Given the description of an element on the screen output the (x, y) to click on. 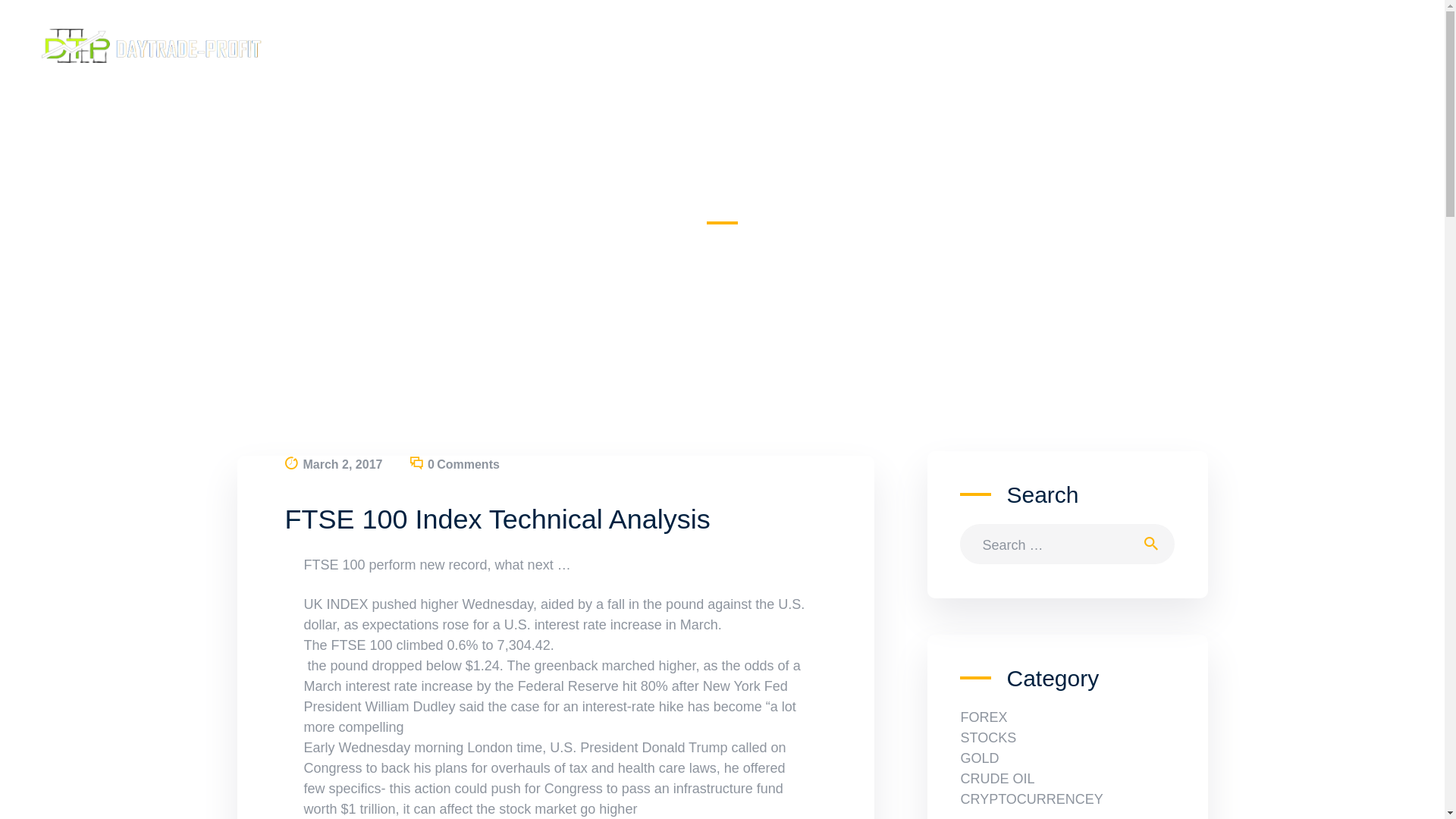
Search (1154, 544)
Search (1154, 544)
HOME (538, 244)
March 2, 2017 (342, 463)
ALL POSTS (592, 244)
